Given the description of an element on the screen output the (x, y) to click on. 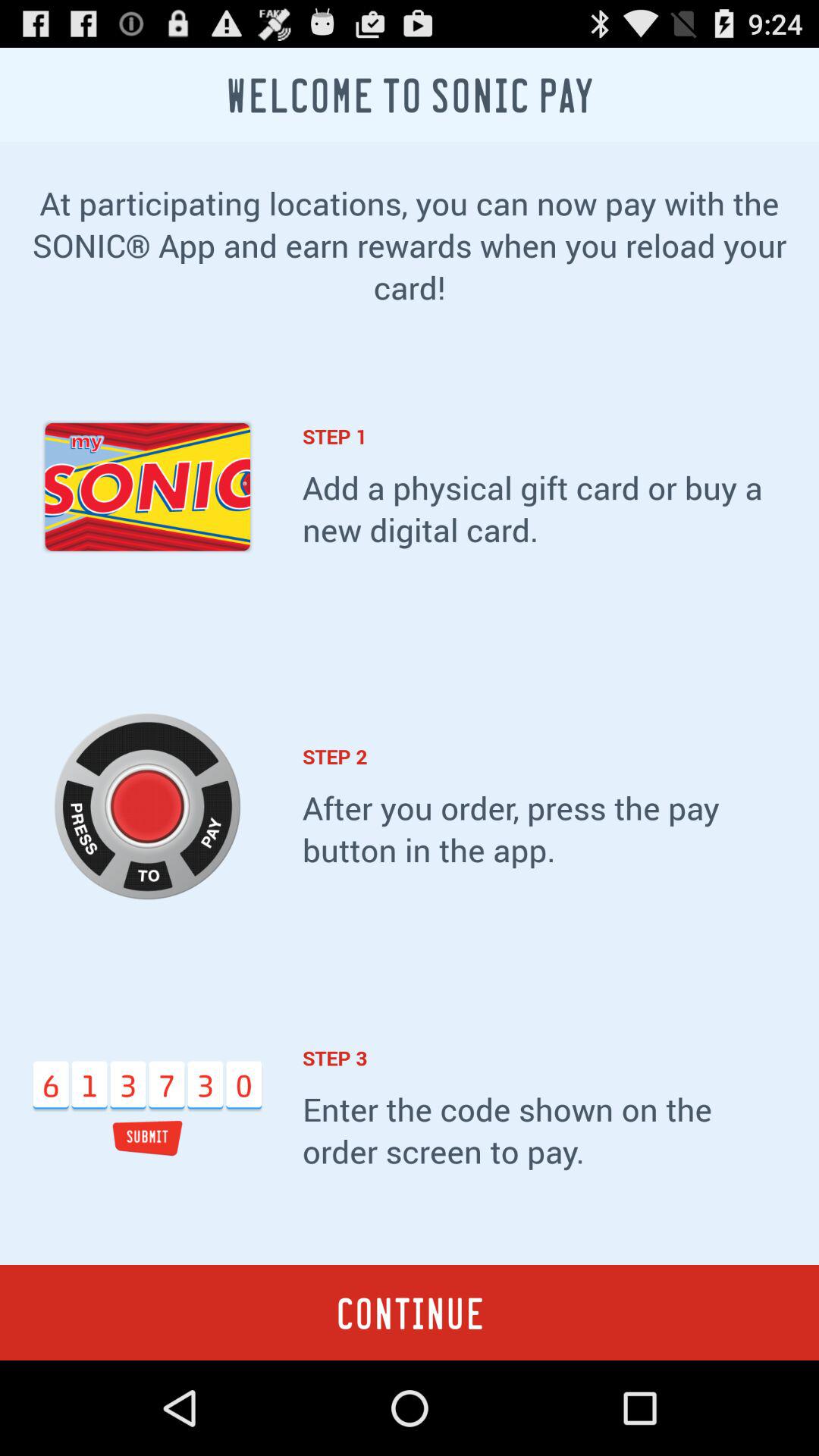
scroll to continue (409, 1312)
